Given the description of an element on the screen output the (x, y) to click on. 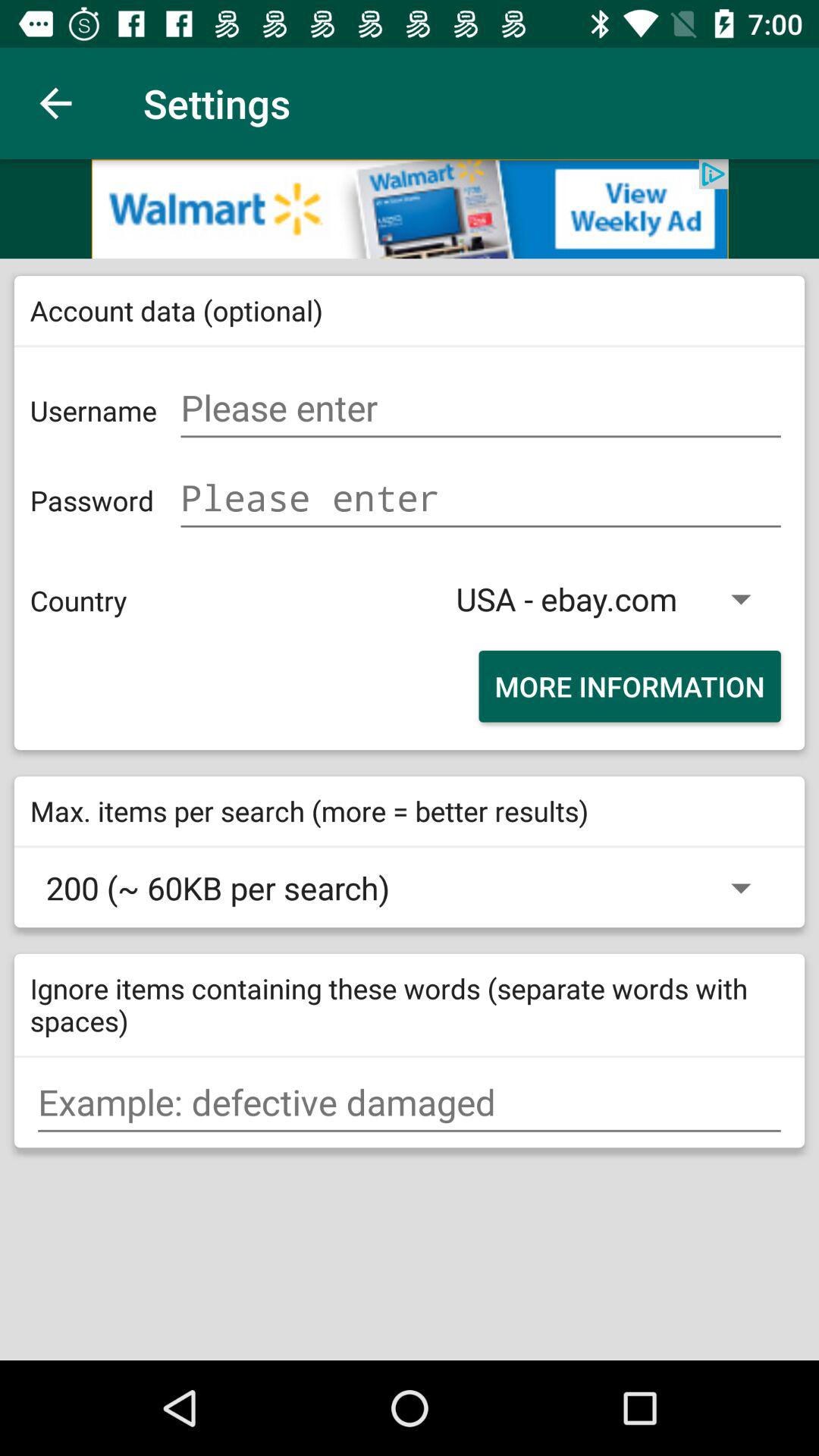
typing box (409, 1102)
